Given the description of an element on the screen output the (x, y) to click on. 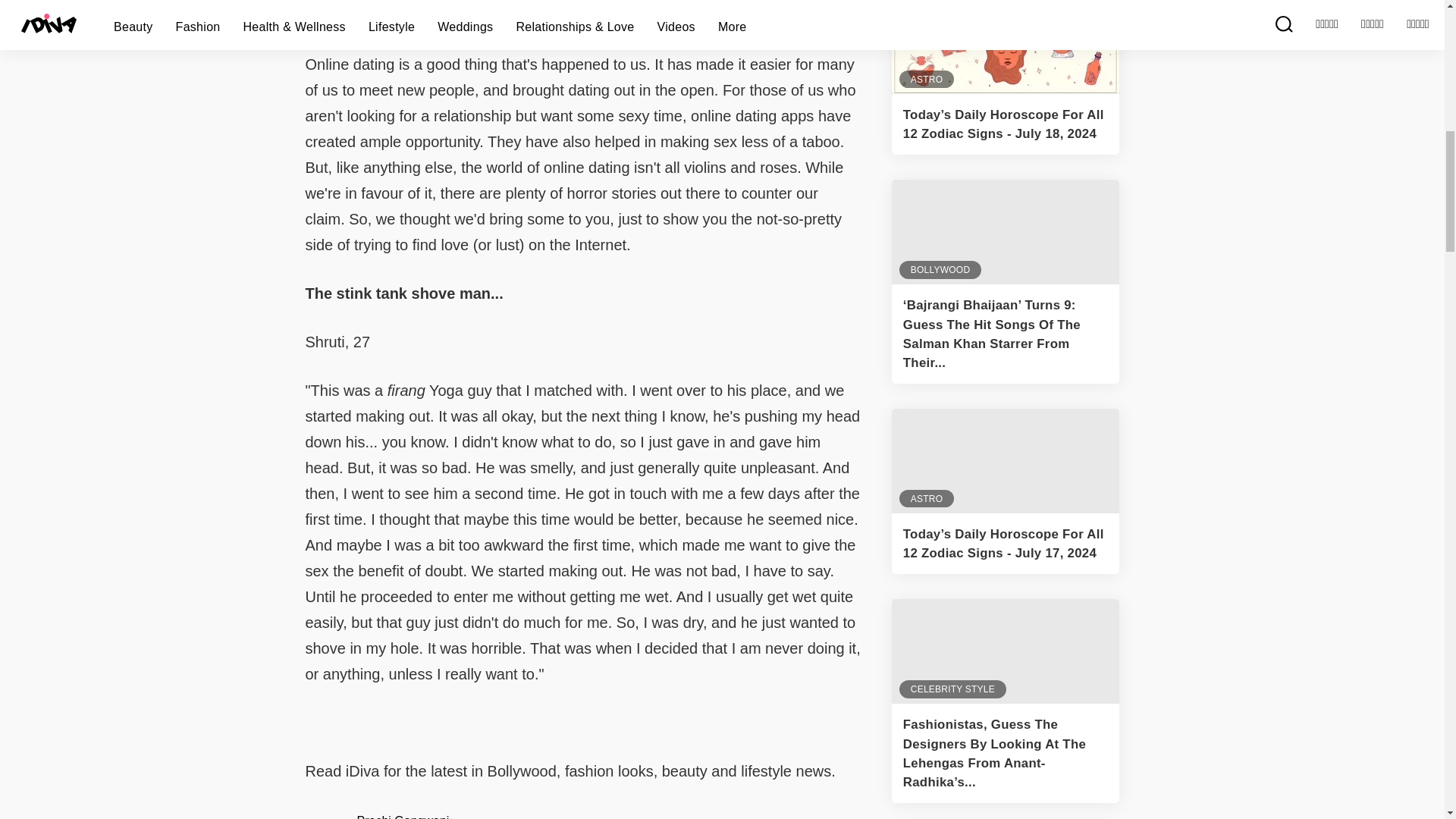
Daily Horoscope For All 12 Zodiac Signs (1005, 47)
